Given the description of an element on the screen output the (x, y) to click on. 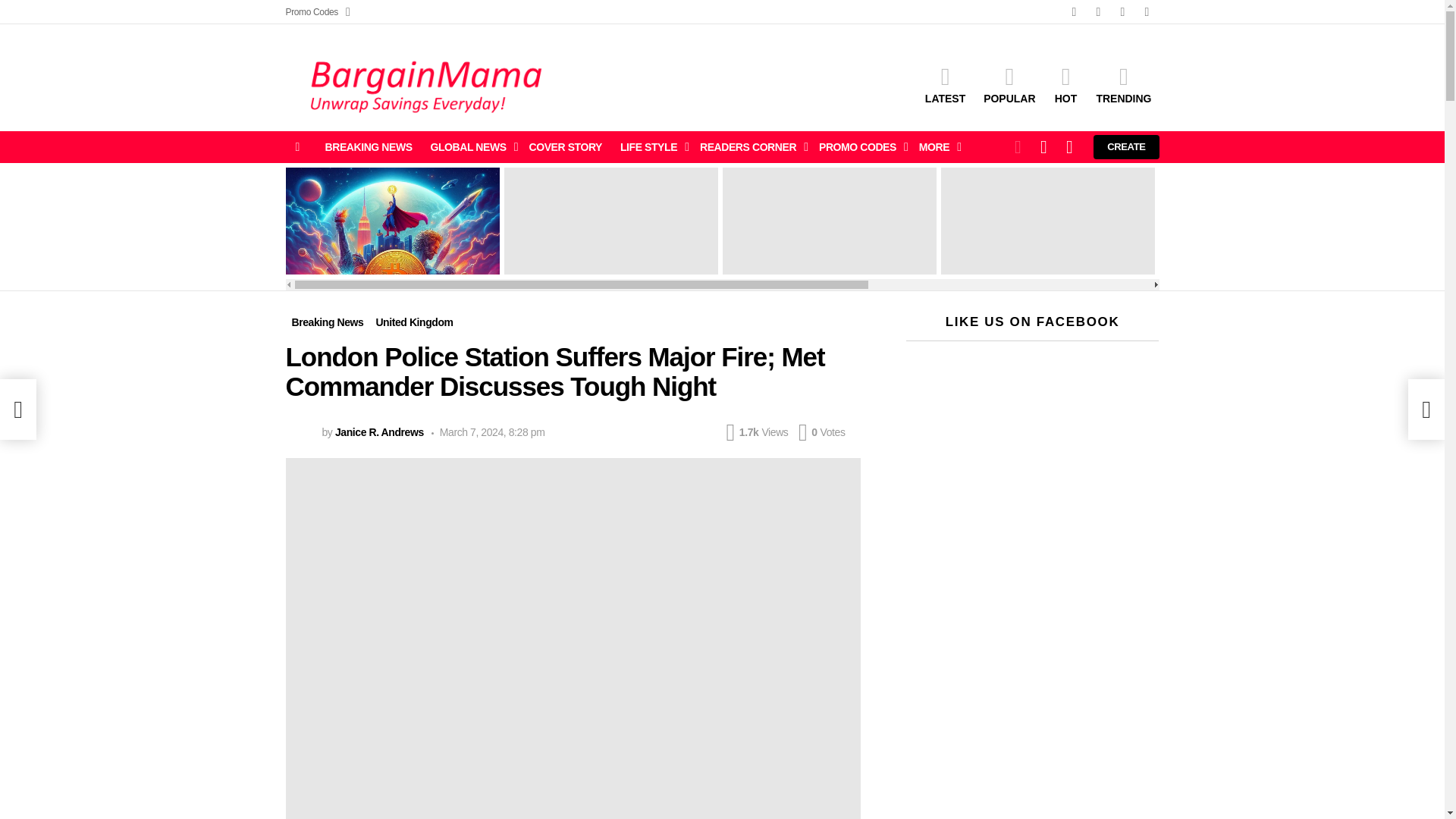
BREAKING NEWS (368, 146)
HOT (1064, 83)
Posts by Janice R. Andrews (378, 431)
Promo Codes (317, 12)
Menu (296, 147)
COVER STORY (565, 146)
TRENDING (1122, 83)
Instagram (1121, 11)
LIFE STYLE (650, 146)
